Given the description of an element on the screen output the (x, y) to click on. 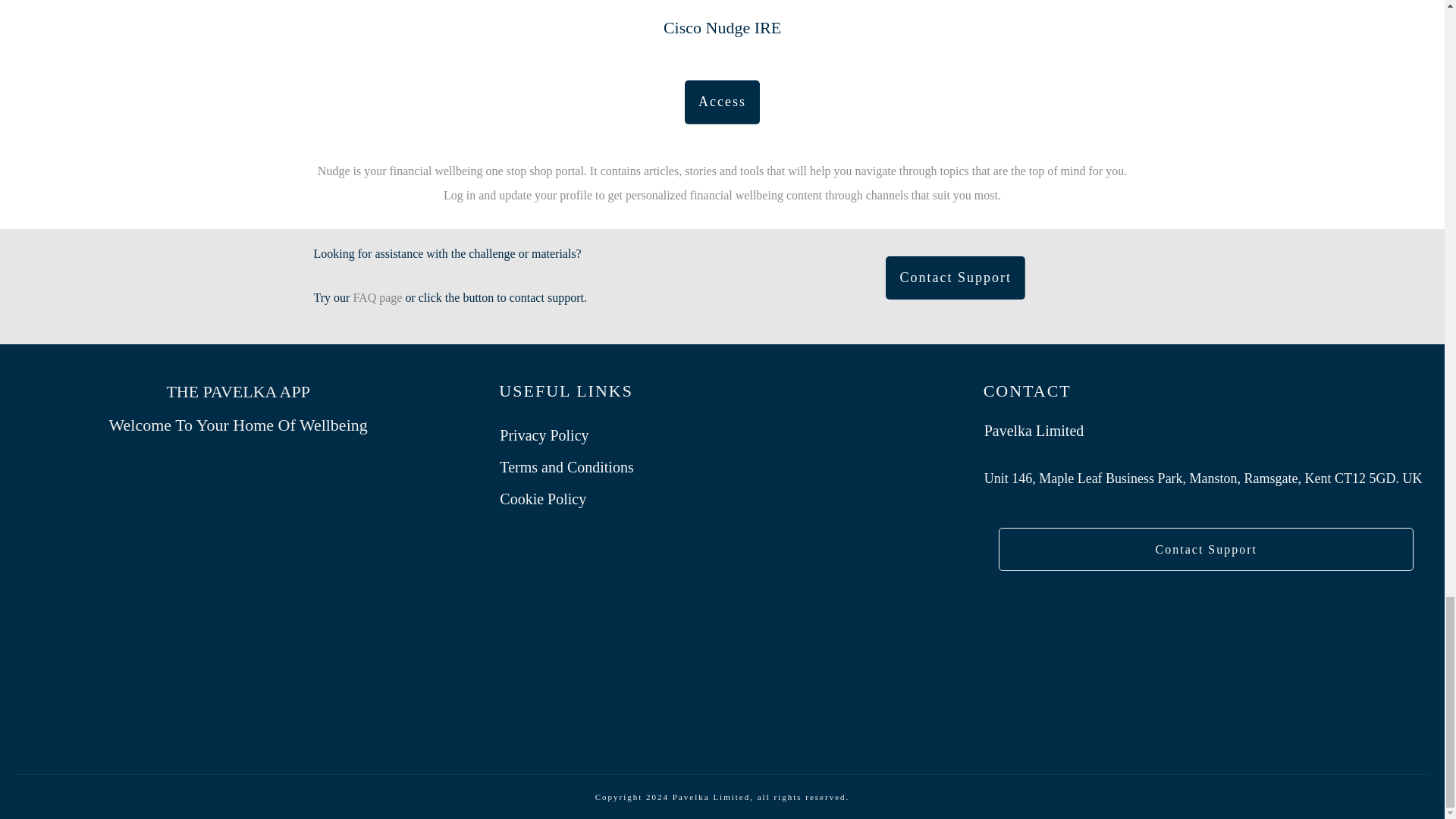
Privacy Policy (543, 434)
Contact Support (1205, 548)
Terms and Conditions (566, 466)
Contact Support (955, 278)
Access (722, 102)
google-play-badge (238, 671)
Cookie Policy (542, 498)
FAQ page (376, 297)
